Given the description of an element on the screen output the (x, y) to click on. 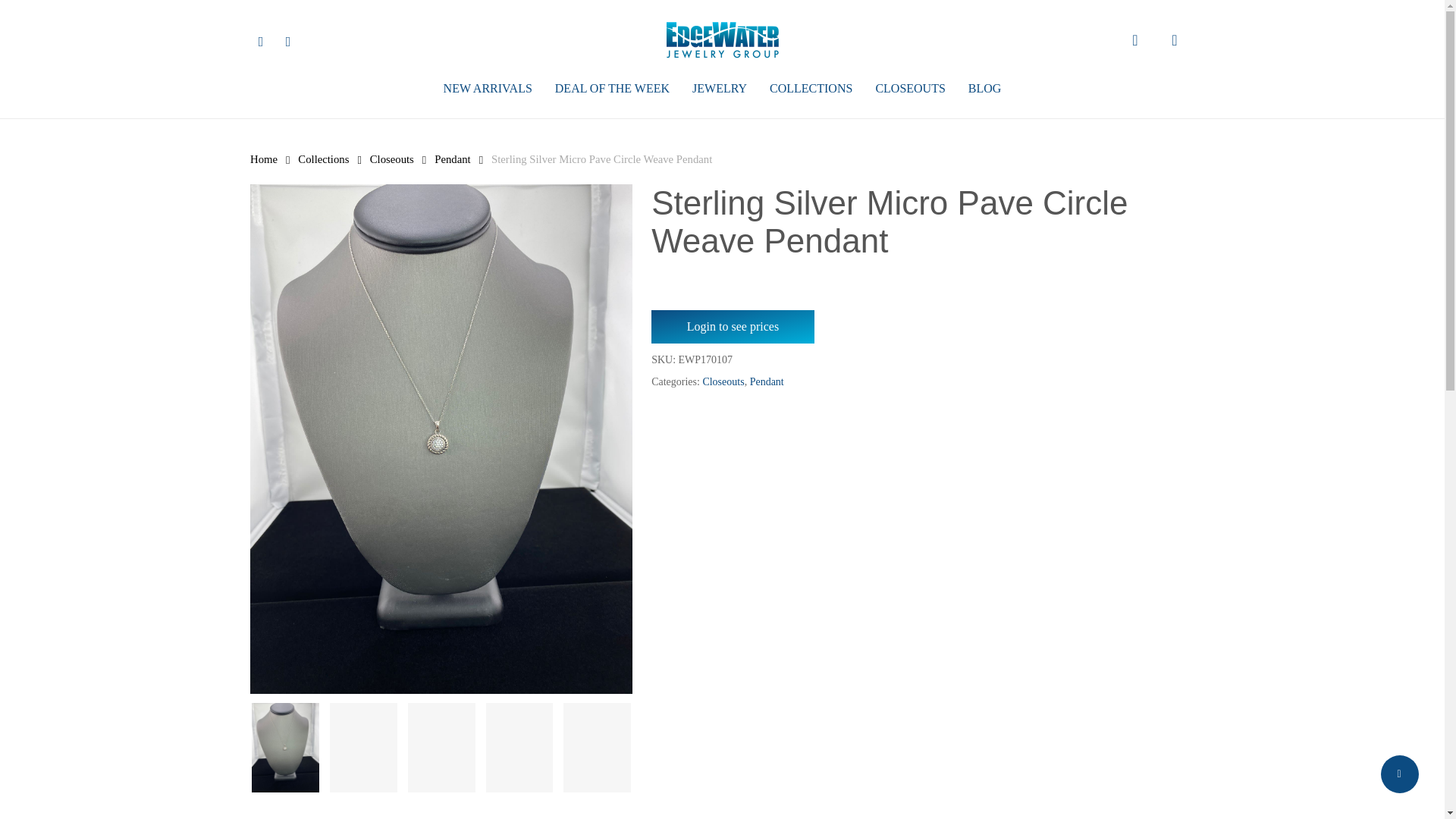
BLOG (984, 88)
Pendant (451, 159)
Home (264, 159)
Closeouts (391, 159)
DEAL OF THE WEEK (611, 88)
CLOSEOUTS (909, 88)
JEWELRY (719, 88)
account (1174, 39)
search (1134, 39)
FACEBOOK (261, 39)
NEW ARRIVALS (488, 88)
INSTAGRAM (288, 39)
Collections (323, 159)
COLLECTIONS (810, 88)
